Given the description of an element on the screen output the (x, y) to click on. 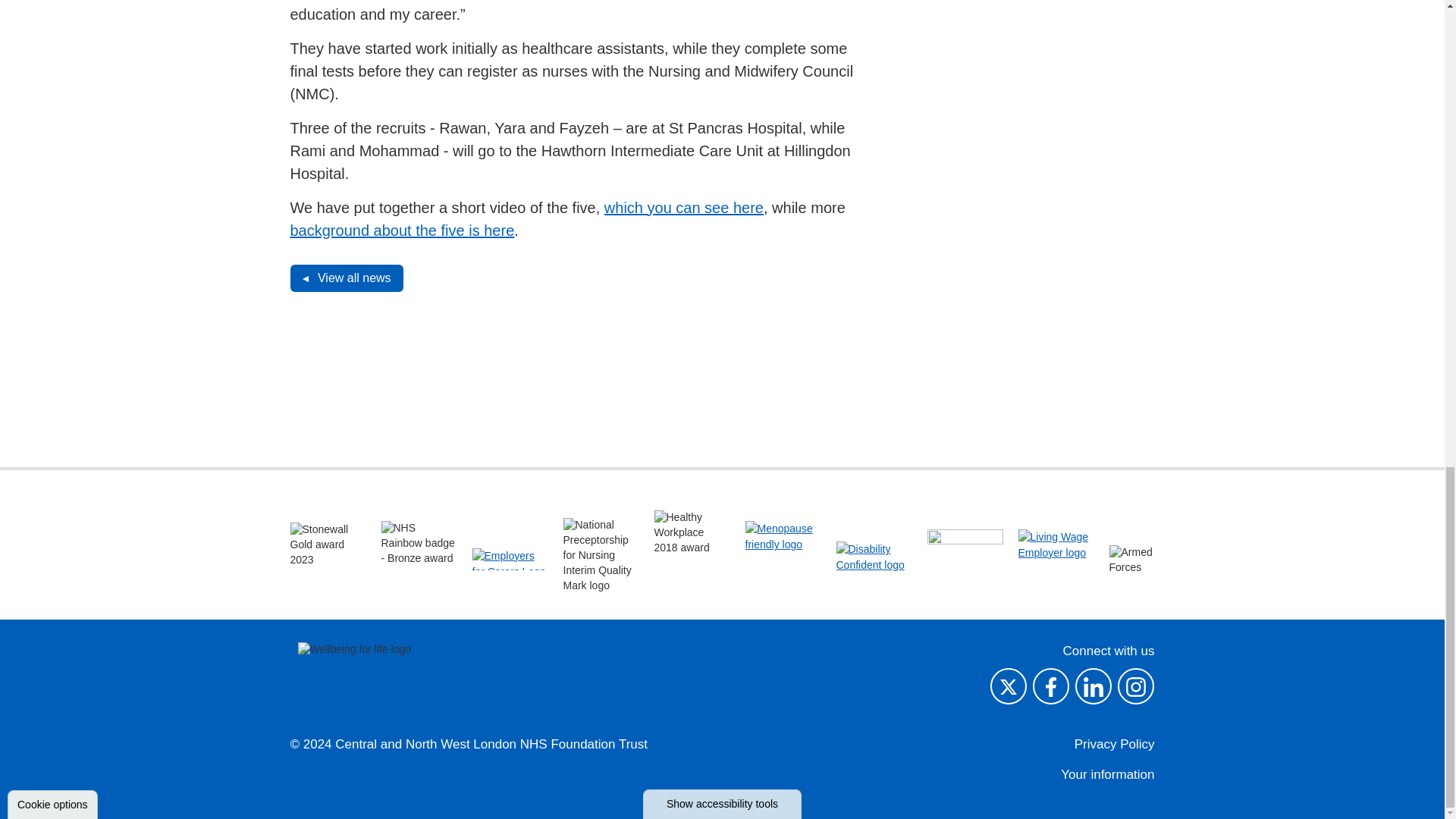
X (1008, 685)
Facebook (1050, 685)
LinkedIn (1093, 685)
Instagram (1136, 685)
